Given the description of an element on the screen output the (x, y) to click on. 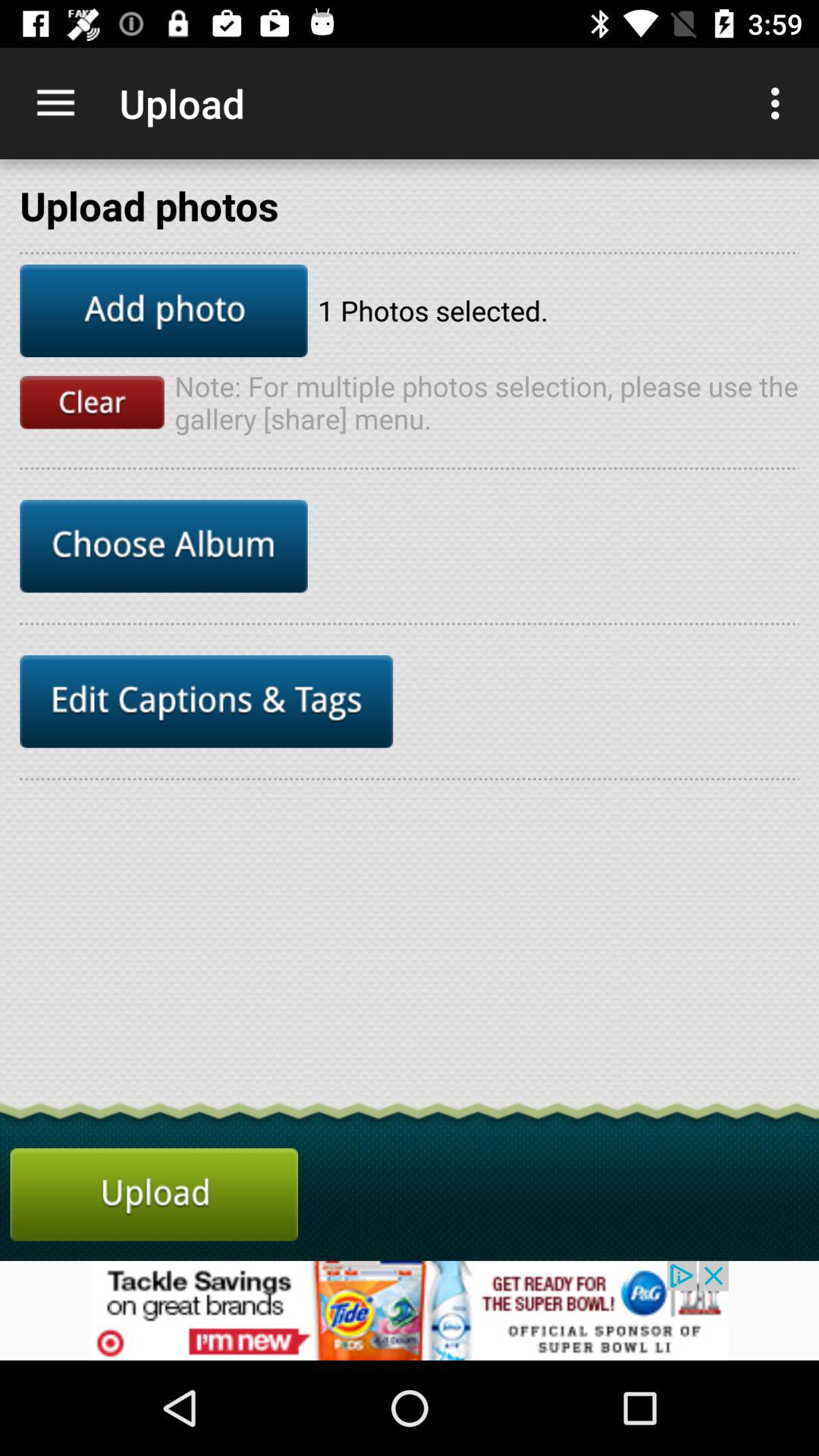
click edit captions tags (206, 701)
